Given the description of an element on the screen output the (x, y) to click on. 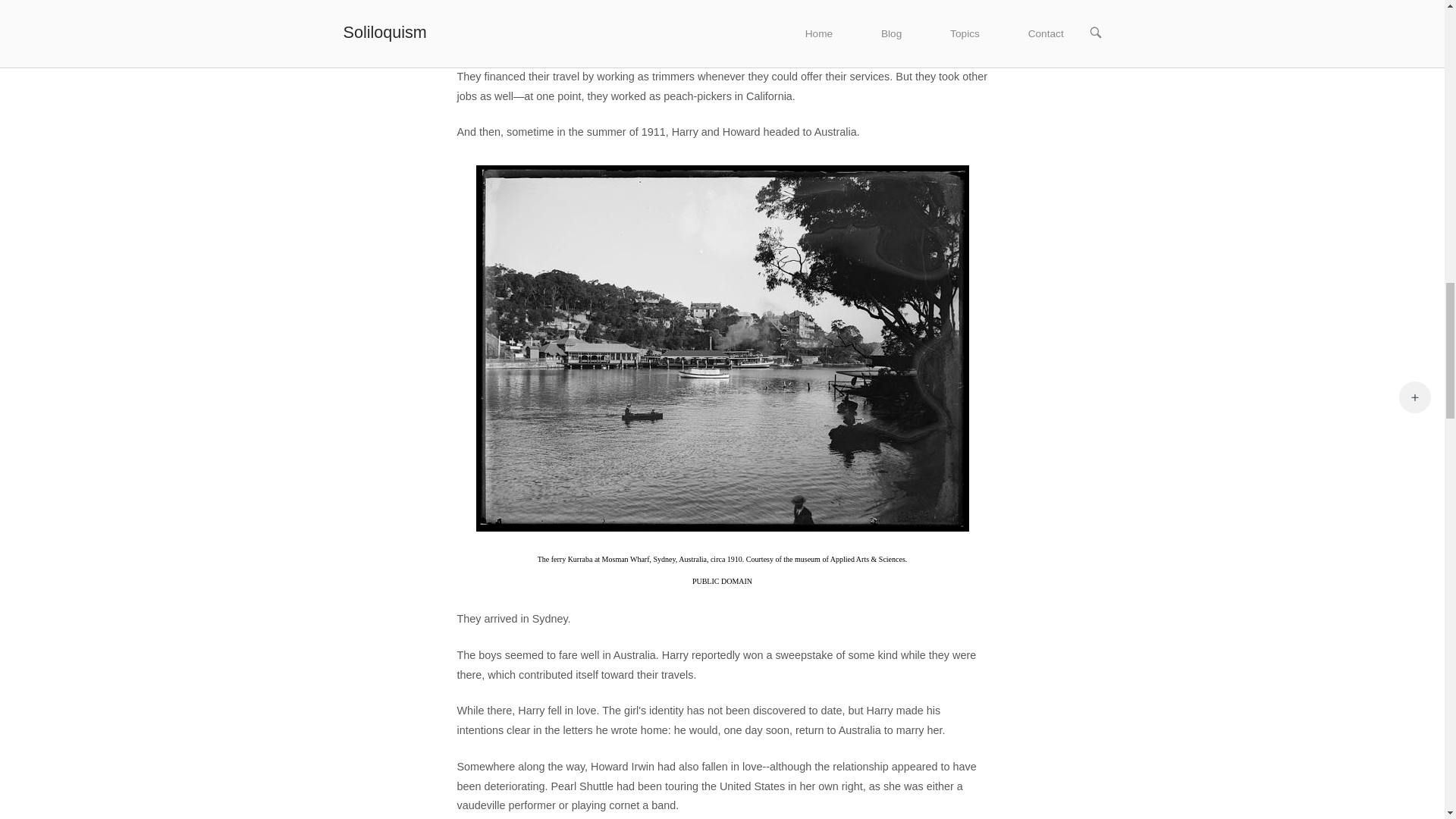
PUBLIC DOMAIN (722, 581)
